Given the description of an element on the screen output the (x, y) to click on. 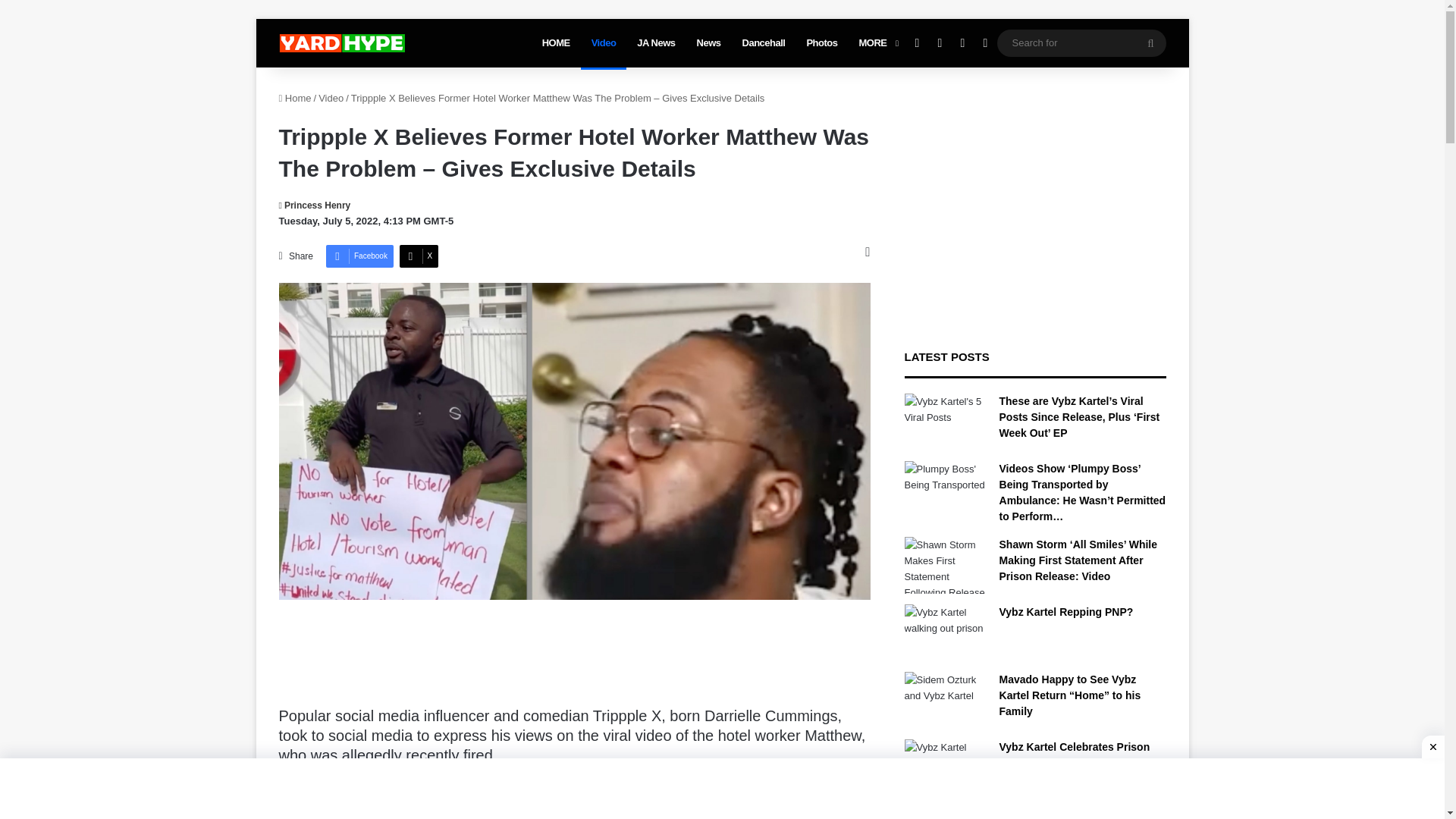
Photos (820, 42)
Princess Henry (314, 204)
Home (295, 98)
Facebook (359, 255)
Video (603, 42)
Search for (1080, 42)
Search for (1150, 42)
JA News (655, 42)
Facebook (359, 255)
News (708, 42)
X (418, 255)
YARDHYPE (341, 43)
MORE (876, 42)
Princess Henry (314, 204)
X (418, 255)
